Given the description of an element on the screen output the (x, y) to click on. 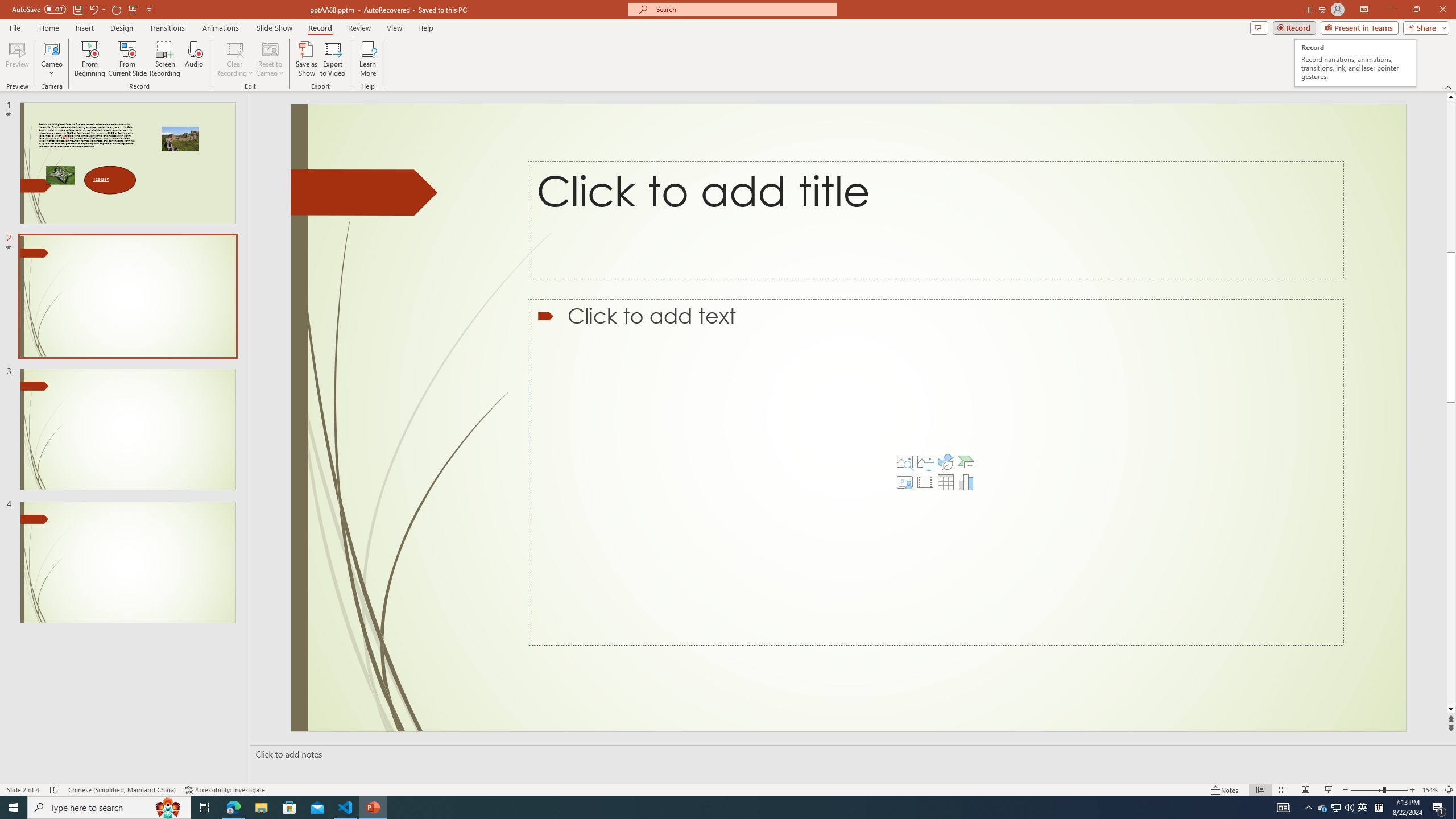
Zoom 154% (1430, 790)
Insert Chart (965, 482)
